Given the description of an element on the screen output the (x, y) to click on. 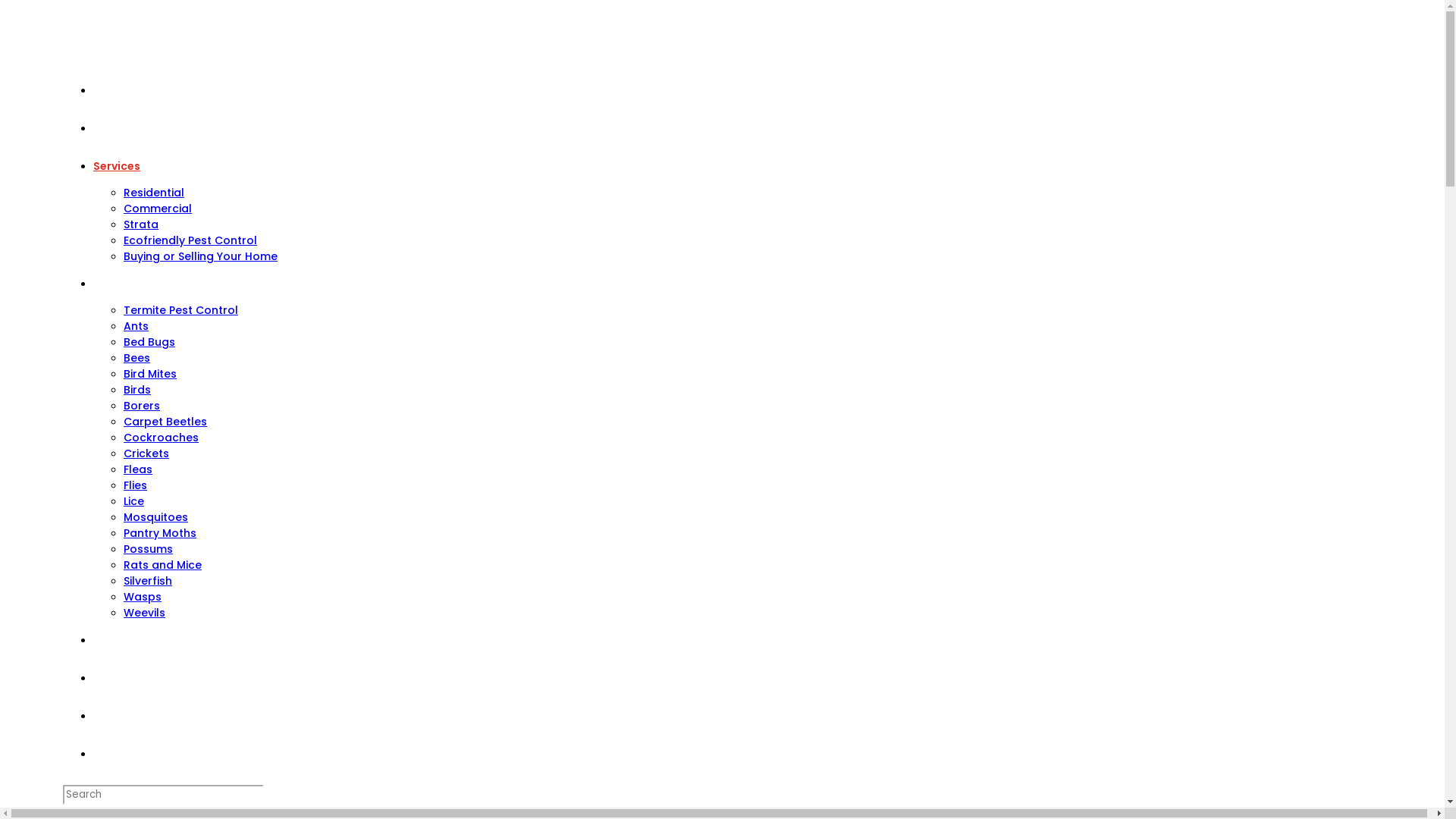
Contact Element type: text (117, 715)
Ecofriendly Pest Control Element type: text (190, 239)
FAQs Element type: text (107, 639)
Mosquitoes Element type: text (155, 516)
Wasps Element type: text (142, 596)
Strata Element type: text (140, 224)
Fleas Element type: text (137, 468)
About Element type: text (110, 89)
Crickets Element type: text (146, 453)
Silverfish Element type: text (147, 580)
Pantry Moths Element type: text (159, 532)
Services Element type: text (116, 165)
Residential Element type: text (153, 192)
Buying or Selling Your Home Element type: text (200, 255)
Possums Element type: text (147, 548)
Pricing Element type: text (112, 127)
Carpet Beetles Element type: text (165, 421)
Borers Element type: text (141, 405)
Flies Element type: text (135, 484)
Commercial Element type: text (157, 208)
Bed Bugs Element type: text (149, 341)
Rats and Mice Element type: text (162, 564)
Bees Element type: text (136, 357)
Weevils Element type: text (144, 612)
Skip to content Element type: text (5, 5)
Ants Element type: text (135, 325)
News Element type: text (107, 677)
Bird Mites Element type: text (149, 373)
Pests Element type: text (108, 283)
Cockroaches Element type: text (160, 437)
Lice Element type: text (133, 500)
Birds Element type: text (136, 389)
Termite Pest Control Element type: text (180, 309)
